Given the description of an element on the screen output the (x, y) to click on. 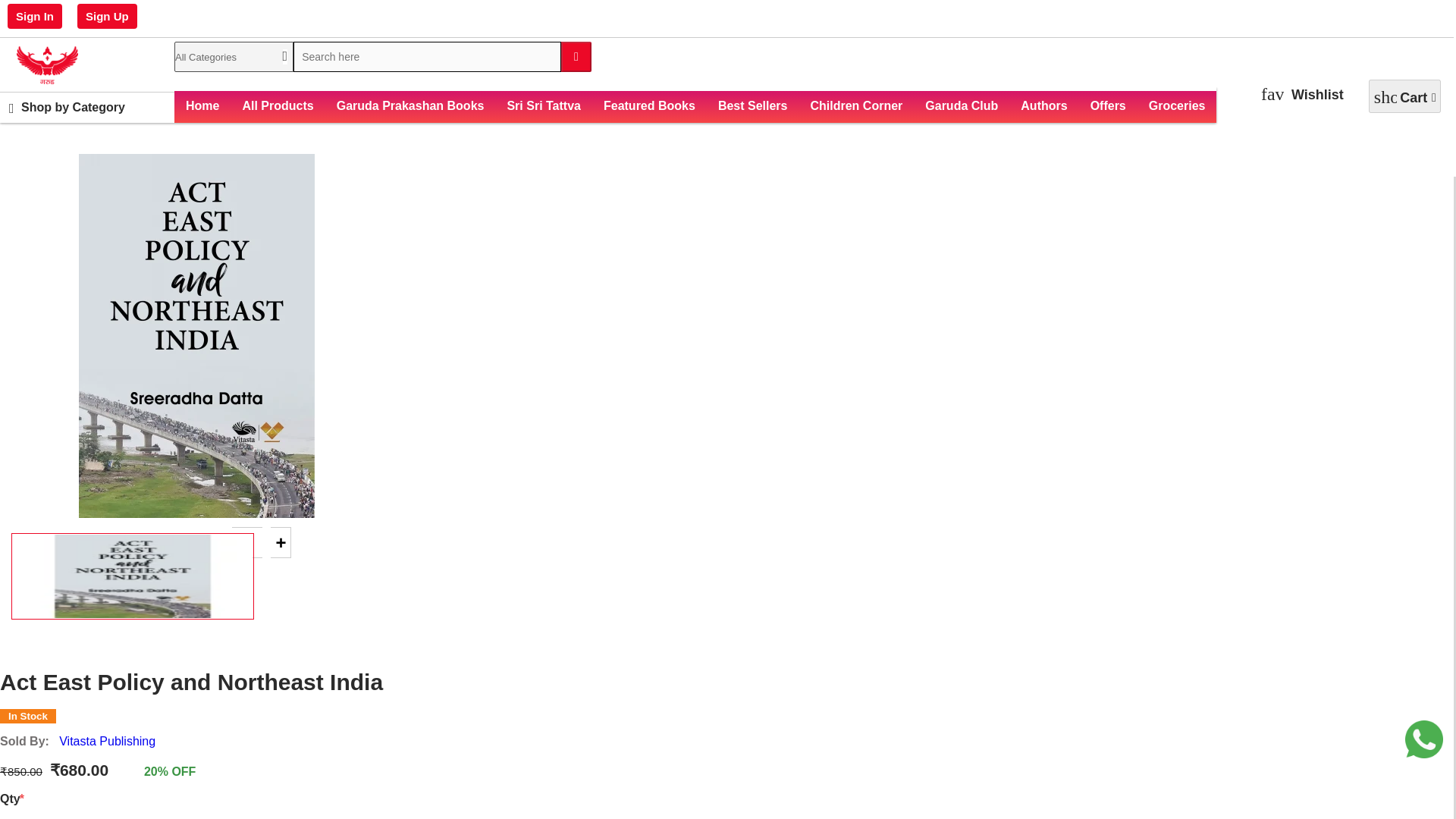
Sign Up (106, 16)
Sign In (34, 16)
Home (202, 105)
Sign In (34, 16)
Featured Books (649, 105)
Sign Up (106, 16)
All Products (277, 105)
Children Corner (855, 105)
Garuda Club (961, 105)
Groceries (1177, 105)
Authors (1043, 105)
Sri Sri Tattva (543, 105)
Best Sellers (752, 105)
Offers (1107, 105)
Garuda Prakashan Books (410, 105)
